Given the description of an element on the screen output the (x, y) to click on. 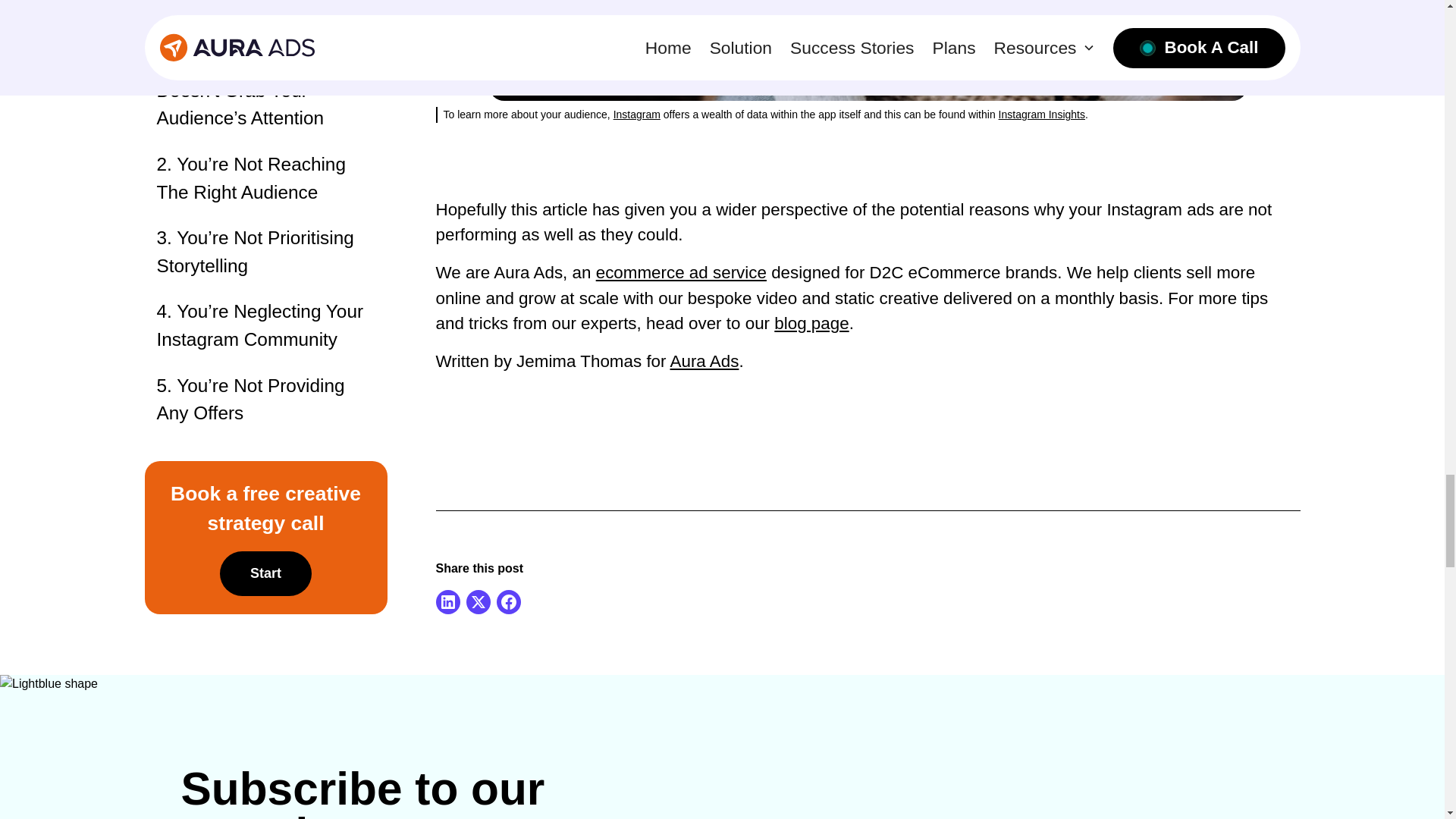
Instagram Insights (1041, 114)
Instagram (636, 114)
